Given the description of an element on the screen output the (x, y) to click on. 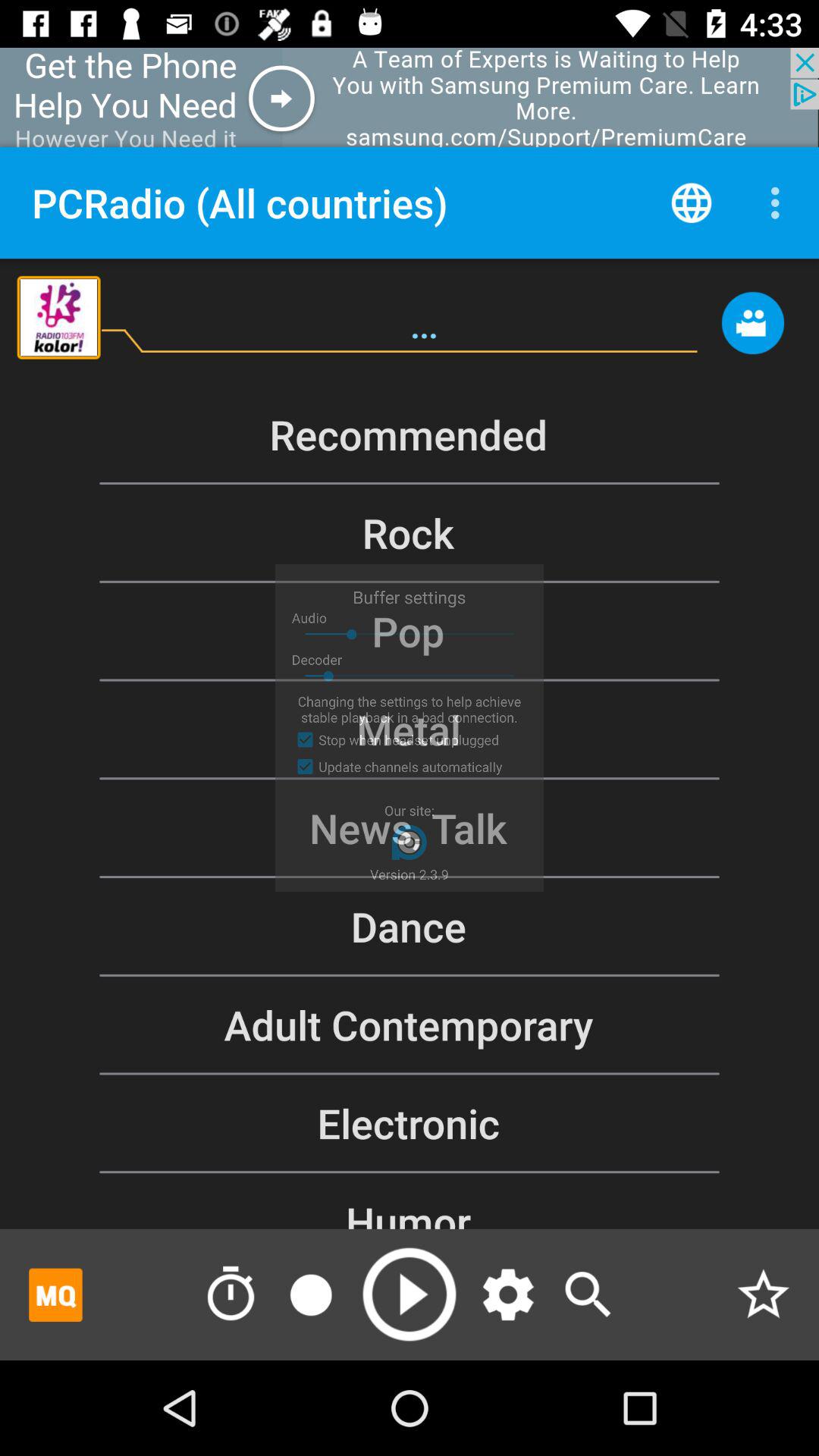
go to settings (508, 1294)
